Given the description of an element on the screen output the (x, y) to click on. 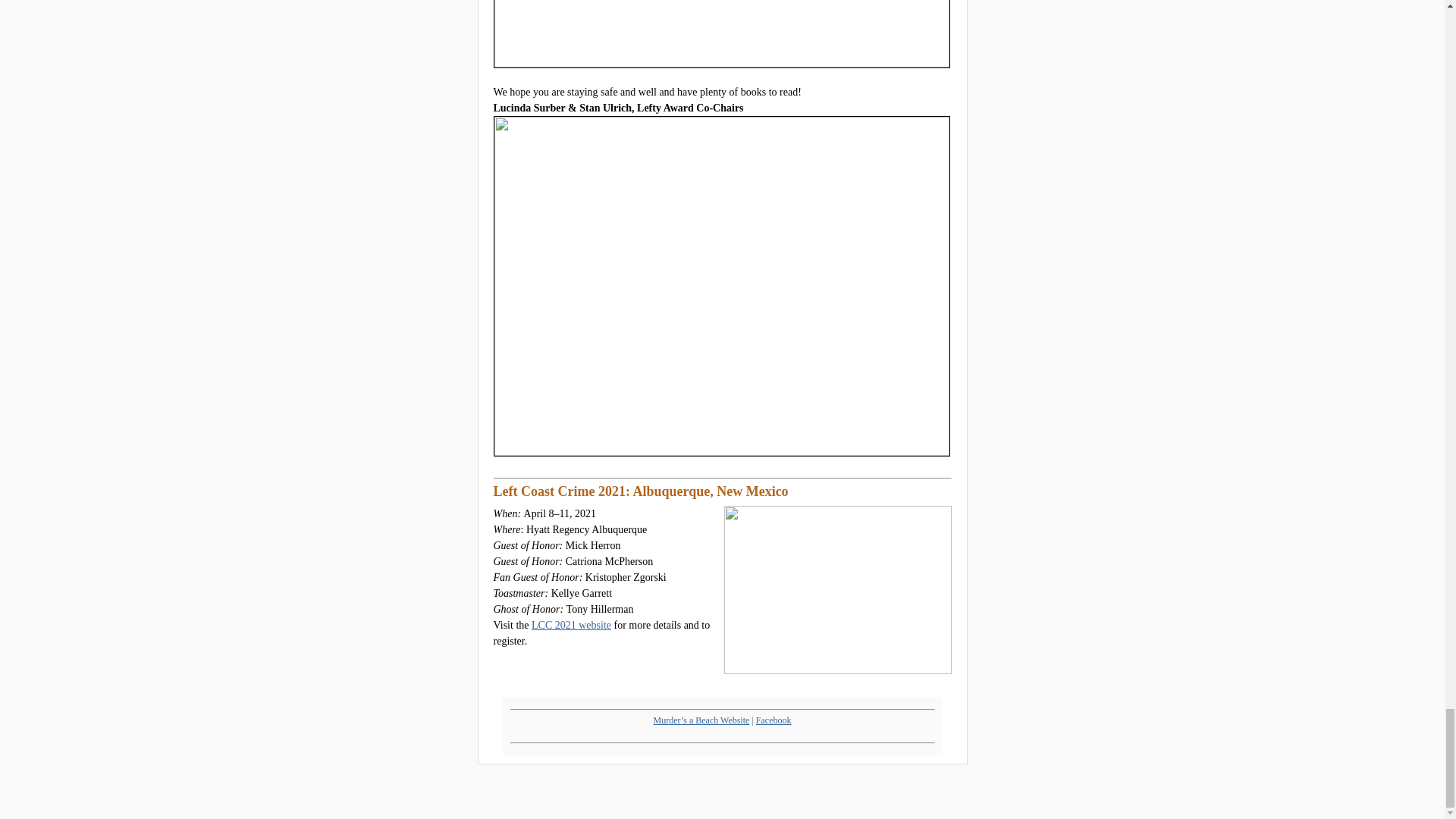
Facebook (773, 719)
LCC 2021 website (571, 624)
